Given the description of an element on the screen output the (x, y) to click on. 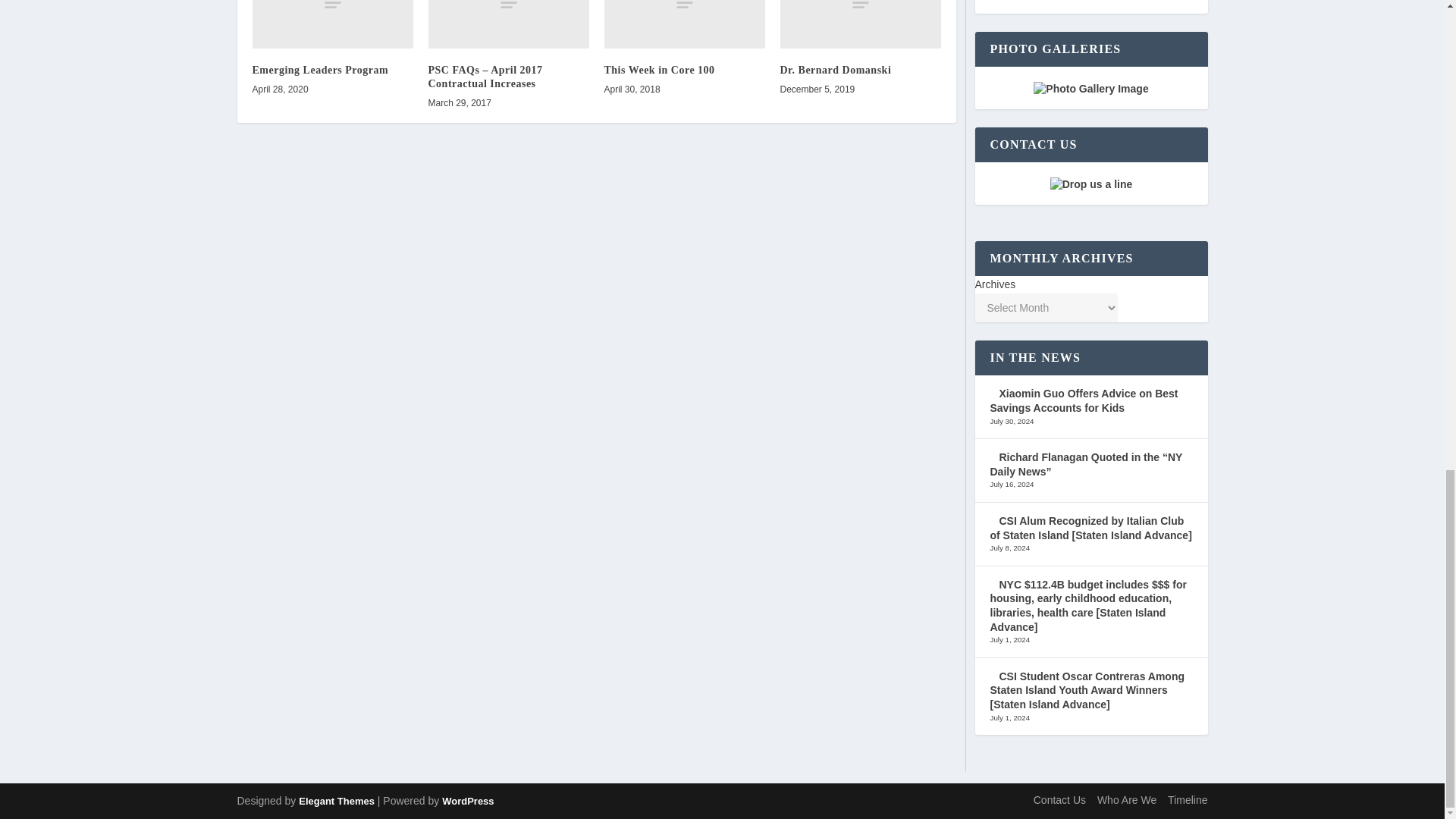
Emerging Leaders Program (319, 70)
Dr. Bernard Domanski (859, 24)
Premium WordPress Themes (336, 800)
Dr. Bernard Domanski (834, 70)
This Week in Core 100 (684, 24)
This Week in Core 100 (659, 70)
Emerging Leaders Program (331, 24)
